Given the description of an element on the screen output the (x, y) to click on. 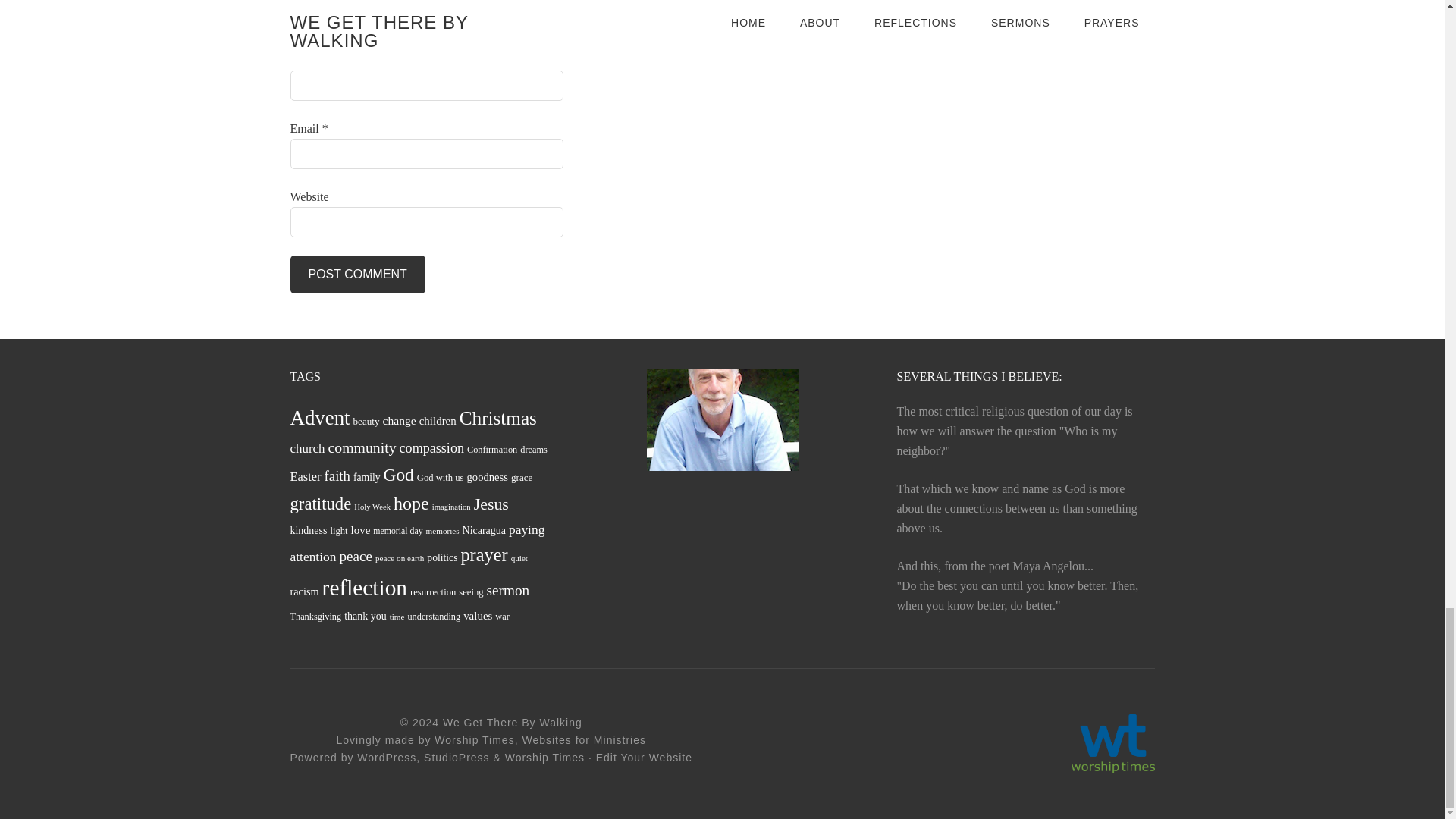
Easter (304, 476)
grace (521, 477)
goodness (487, 477)
Confirmation (491, 449)
gratitude (319, 504)
Post Comment (357, 274)
family (366, 477)
We Get There By Walking (512, 722)
faith (337, 475)
Holy Week (371, 506)
